Given the description of an element on the screen output the (x, y) to click on. 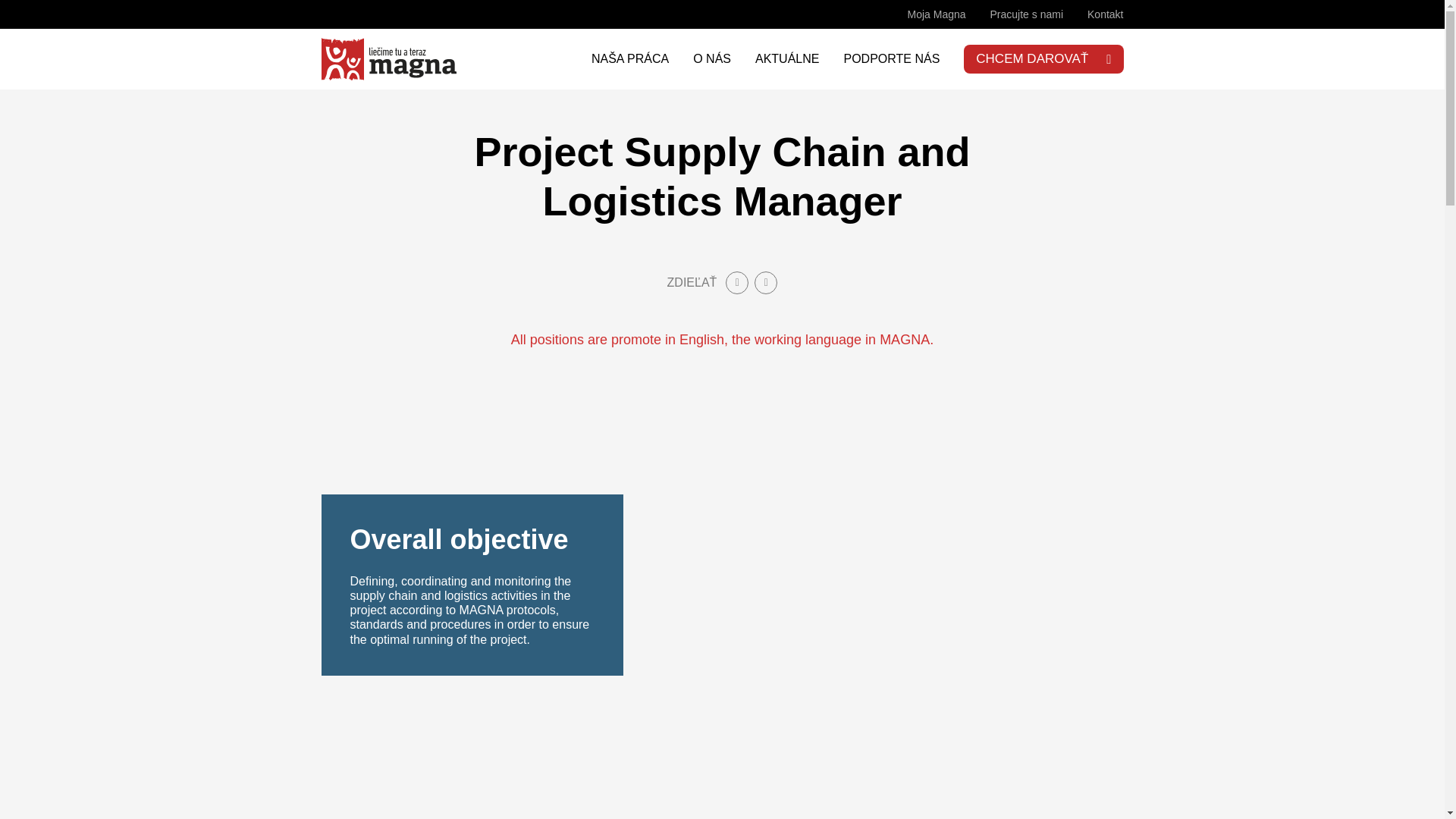
Pracujte s nami (1026, 14)
Moja Magna (936, 14)
Kontakt (1104, 14)
